Given the description of an element on the screen output the (x, y) to click on. 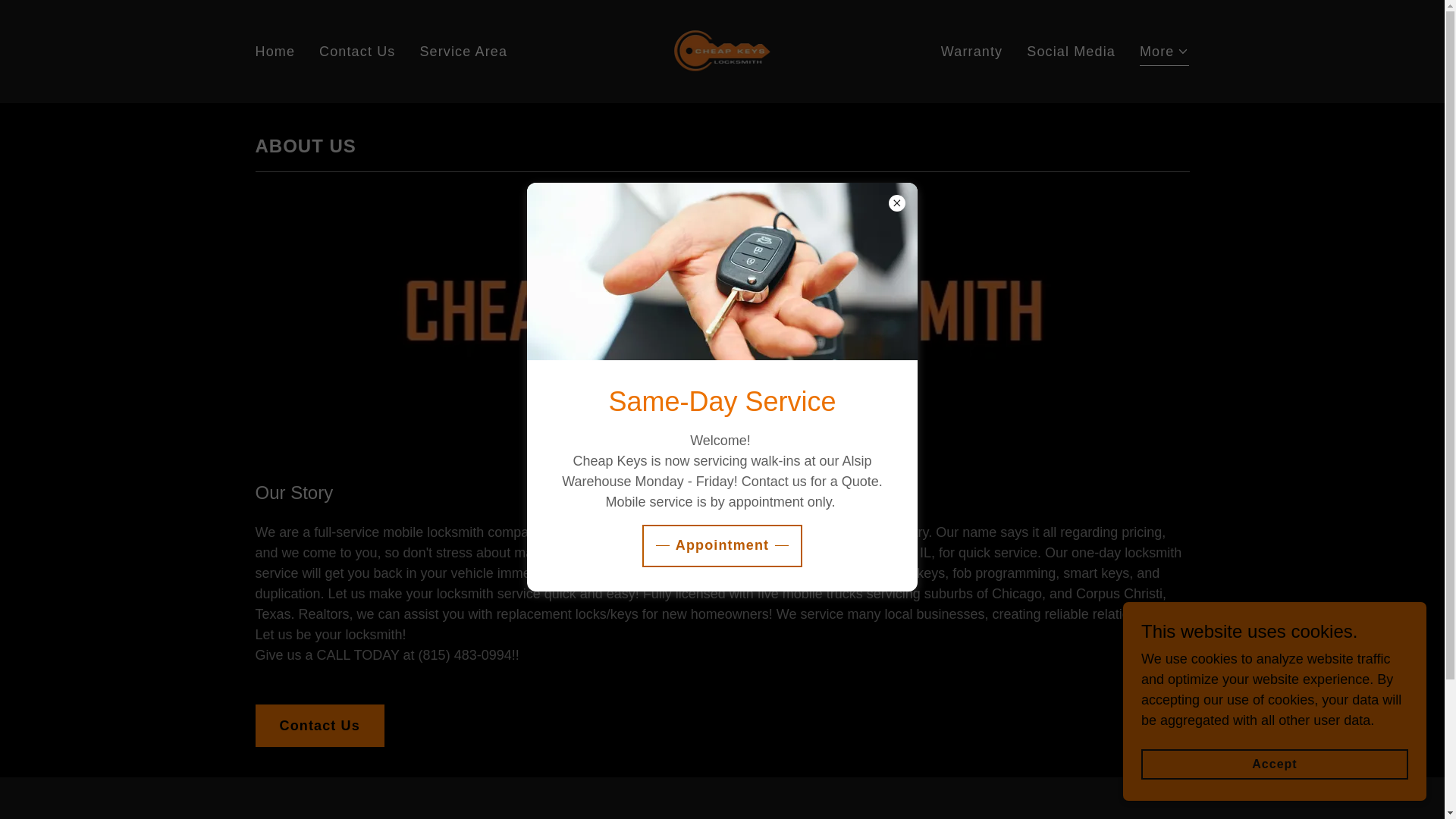
Contact Us (356, 51)
Cheap Keys Locksmith (721, 50)
Service Area (463, 51)
Warranty (971, 51)
Home (274, 51)
Social Media (1070, 51)
More (1164, 52)
